Given the description of an element on the screen output the (x, y) to click on. 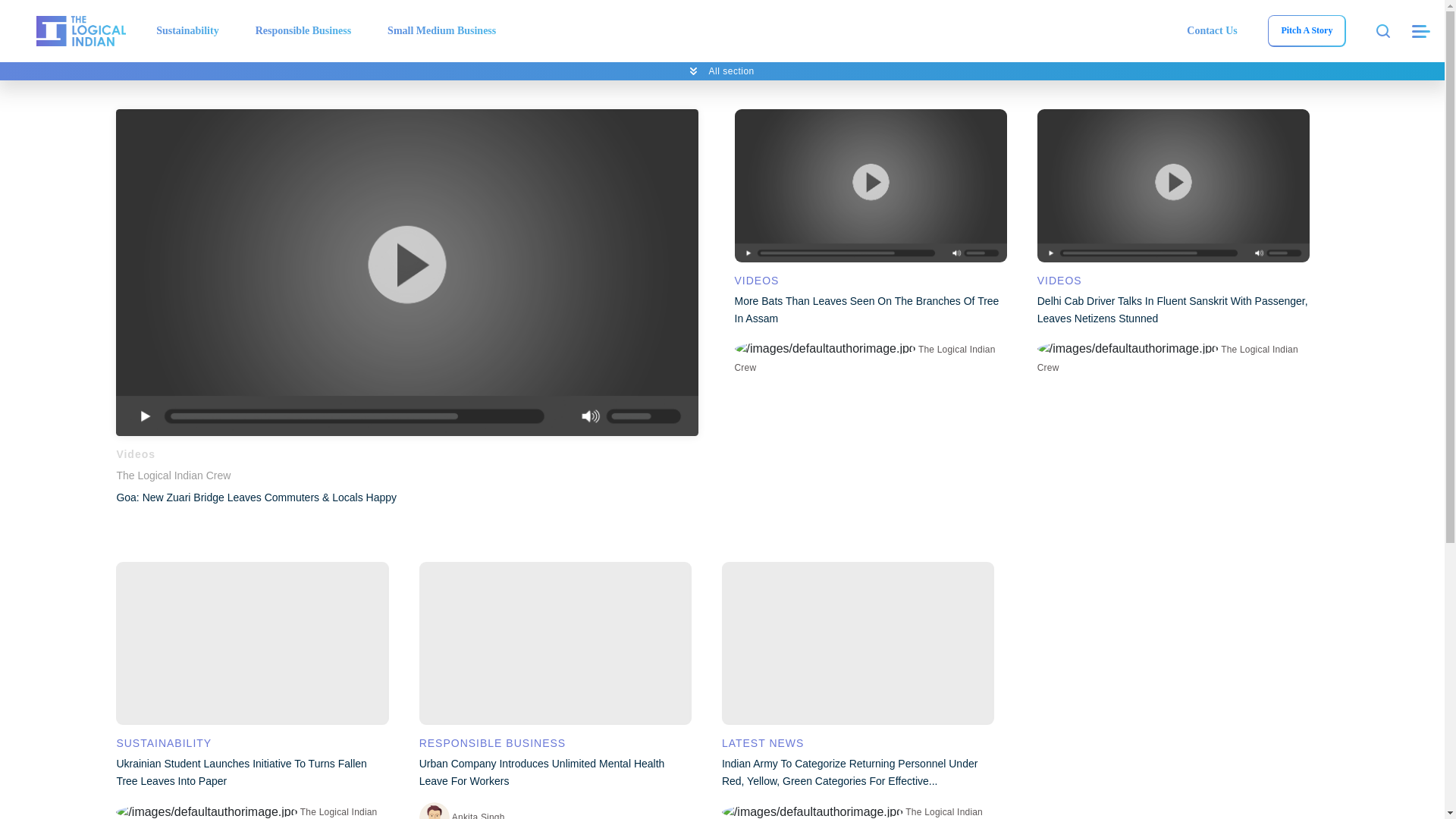
Contact Us (1212, 30)
Responsible Business (303, 30)
Sustainability (186, 30)
Pitch A Story (1305, 30)
Small Medium Business (441, 30)
More Bats Than Leaves Seen On The Branches Of Tree In Assam (869, 185)
The Logical Indian (80, 30)
